Given the description of an element on the screen output the (x, y) to click on. 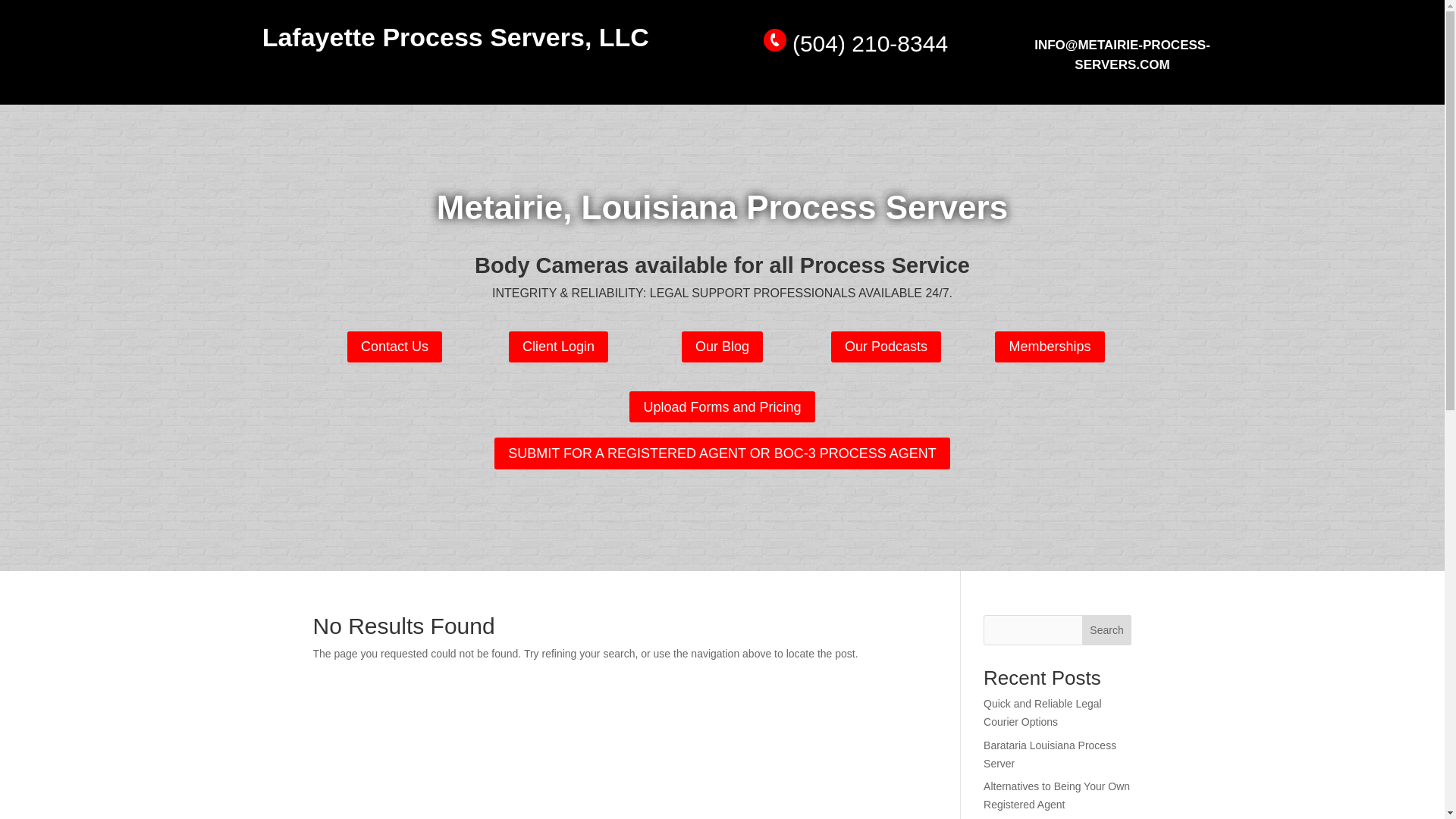
Our Podcasts (885, 346)
Upload Forms and Pricing (720, 406)
Alternatives to Being Your Own Registered Agent (1056, 795)
Memberships (1048, 346)
Barataria Louisiana Process Server (1050, 754)
Our Blog (721, 346)
Lafayette Process Servers, LLC (455, 36)
Contact Us (394, 346)
SUBMIT FOR A REGISTERED AGENT OR BOC-3 PROCESS AGENT (722, 452)
Client Login (558, 346)
Search (1106, 630)
Quick and Reliable Legal Courier Options (1043, 712)
